Given the description of an element on the screen output the (x, y) to click on. 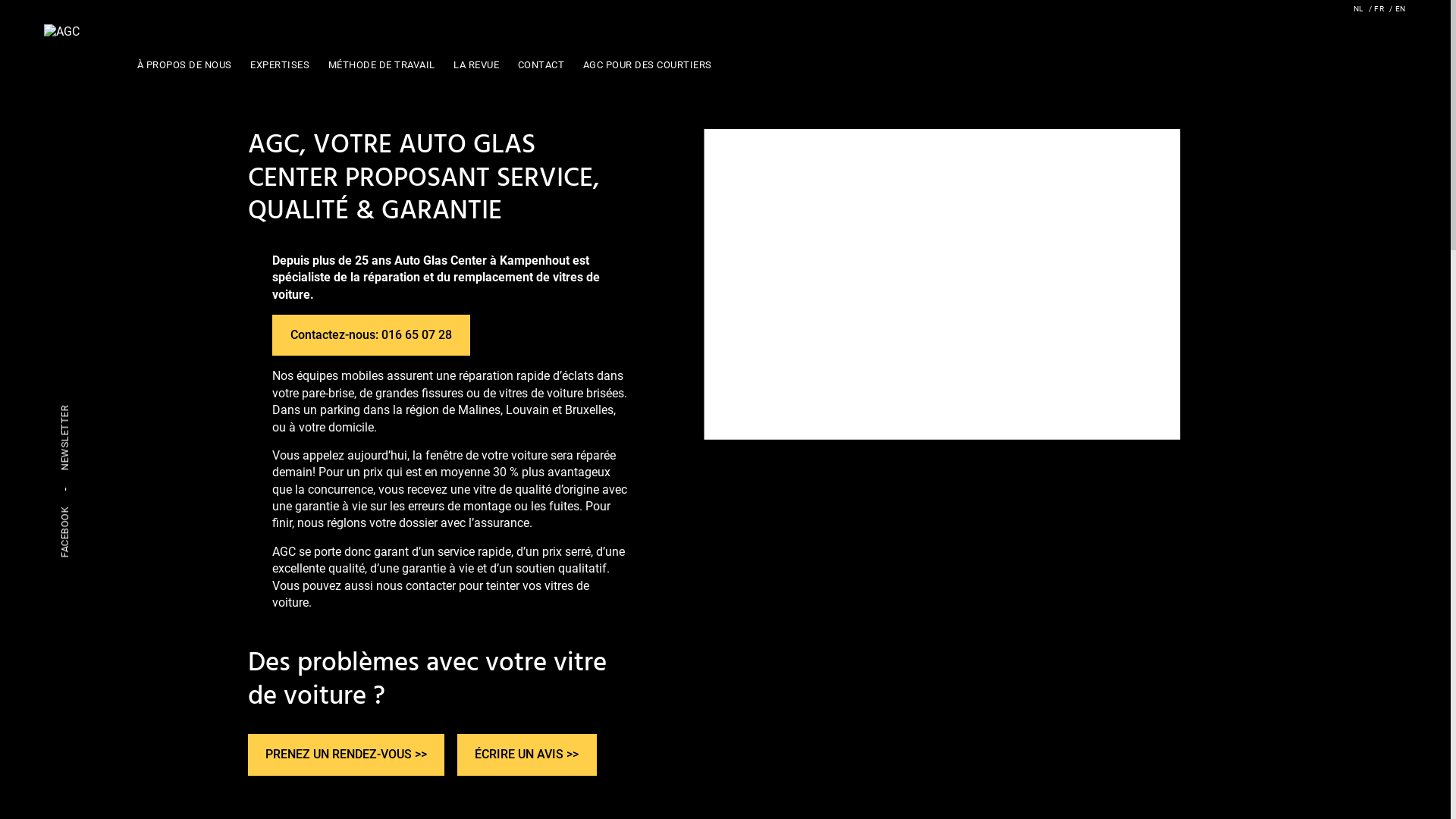
LA REVUE Element type: text (476, 64)
EN Element type: text (1397, 8)
FR Element type: text (1376, 8)
PRENEZ UN RENDEZ-VOUS >> Element type: text (345, 754)
NEWSLETTER Element type: text (64, 437)
FACEBOOK Element type: text (64, 532)
AGC POUR DES COURTIERS Element type: text (646, 64)
Contactez-nous: 016 65 07 28 Element type: text (370, 334)
x Element type: text (743, 424)
AGC Element type: hover (61, 31)
EXPERTISES Element type: text (279, 64)
NL Element type: text (1358, 8)
CONTACT Element type: text (540, 64)
